Given the description of an element on the screen output the (x, y) to click on. 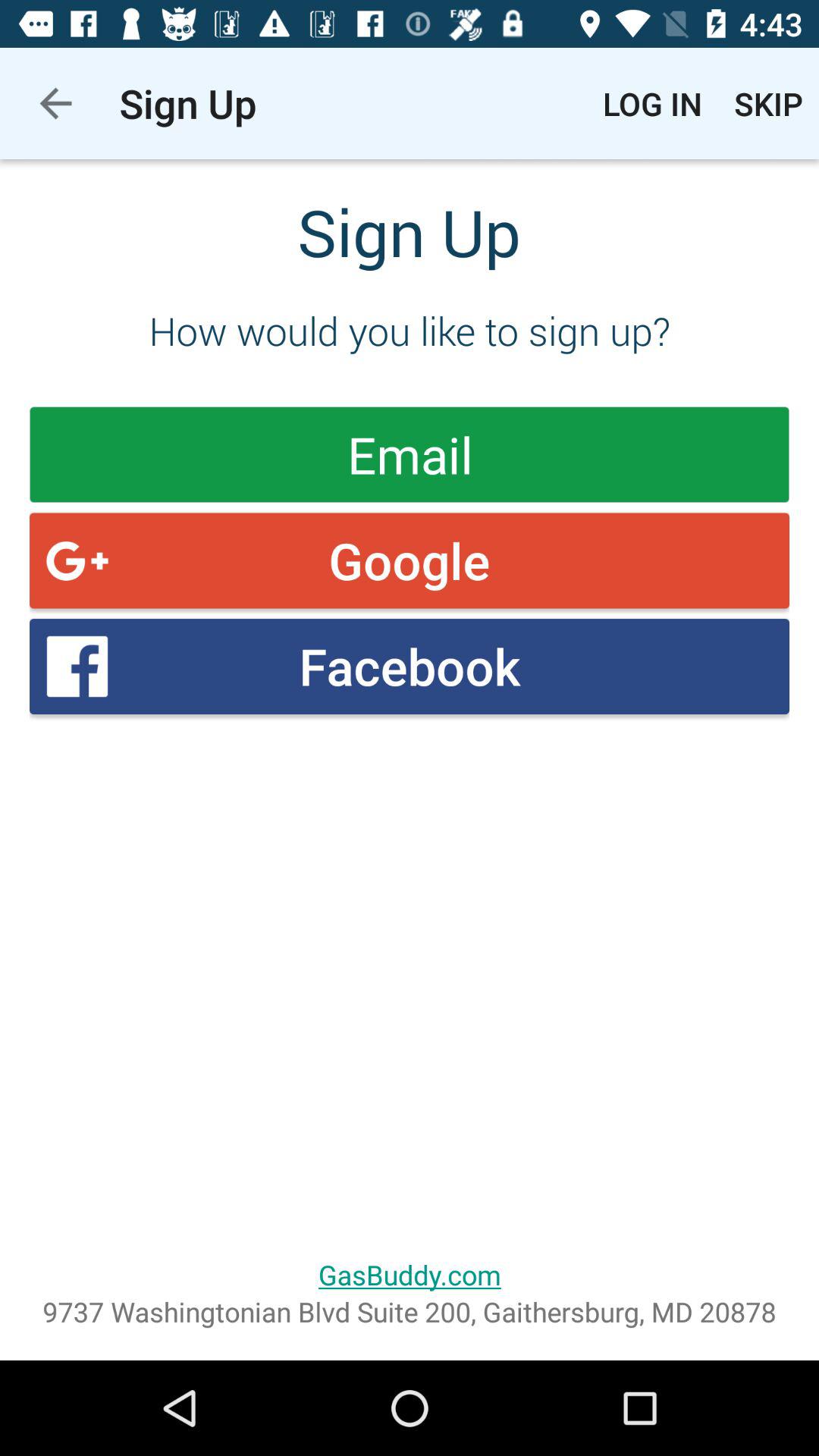
turn on the icon below the google item (409, 666)
